Given the description of an element on the screen output the (x, y) to click on. 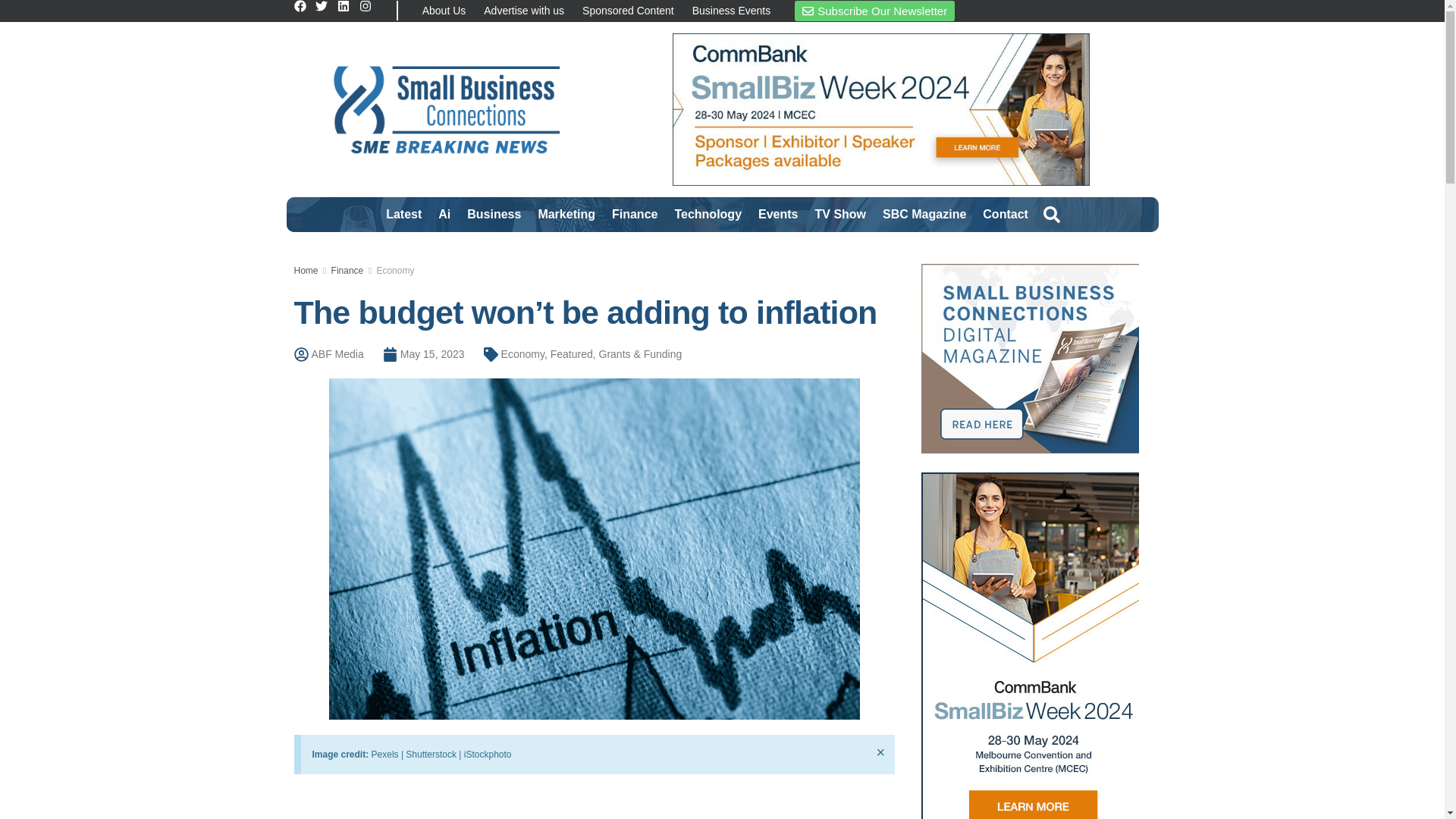
Latest (403, 214)
Finance (634, 214)
Marketing (566, 214)
Sponsored Content (627, 10)
Technology (707, 214)
Business (493, 214)
About Us (444, 10)
Subscribe Our Newsletter (874, 10)
Business Events (731, 10)
Advertise with us (523, 10)
